Given the description of an element on the screen output the (x, y) to click on. 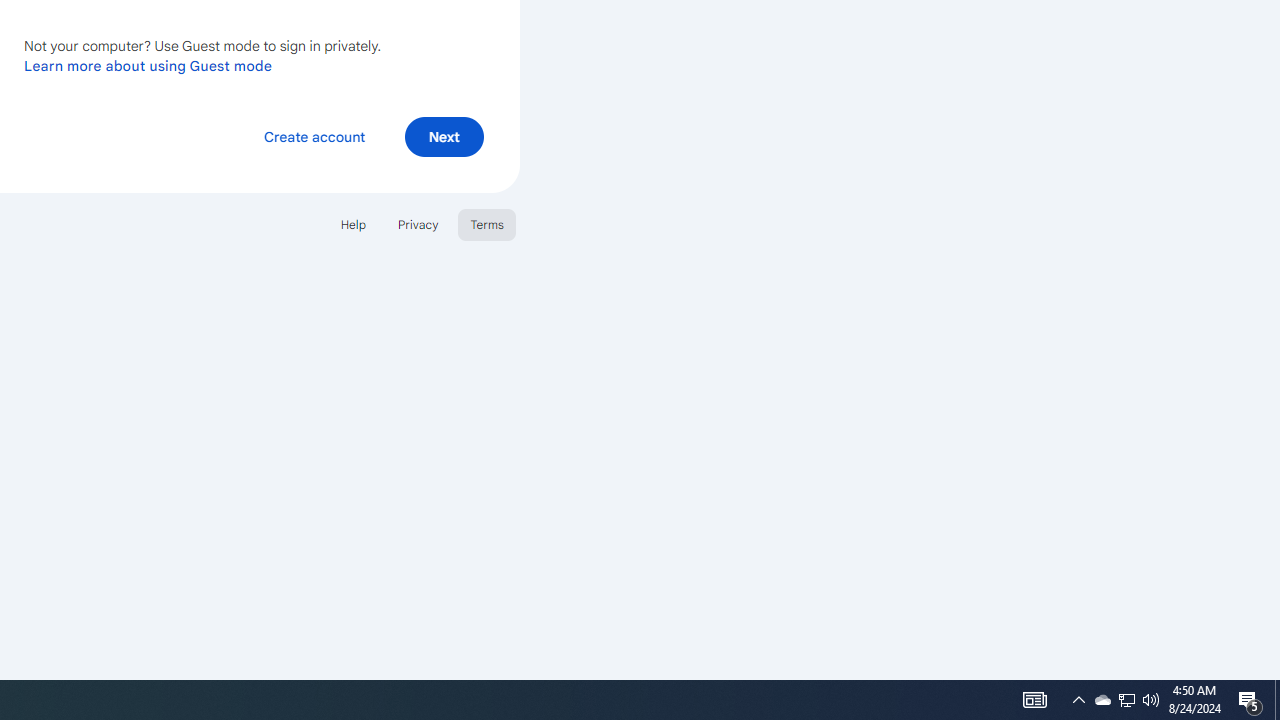
Create account (314, 135)
Learn more about using Guest mode (148, 65)
Next (443, 135)
